Given the description of an element on the screen output the (x, y) to click on. 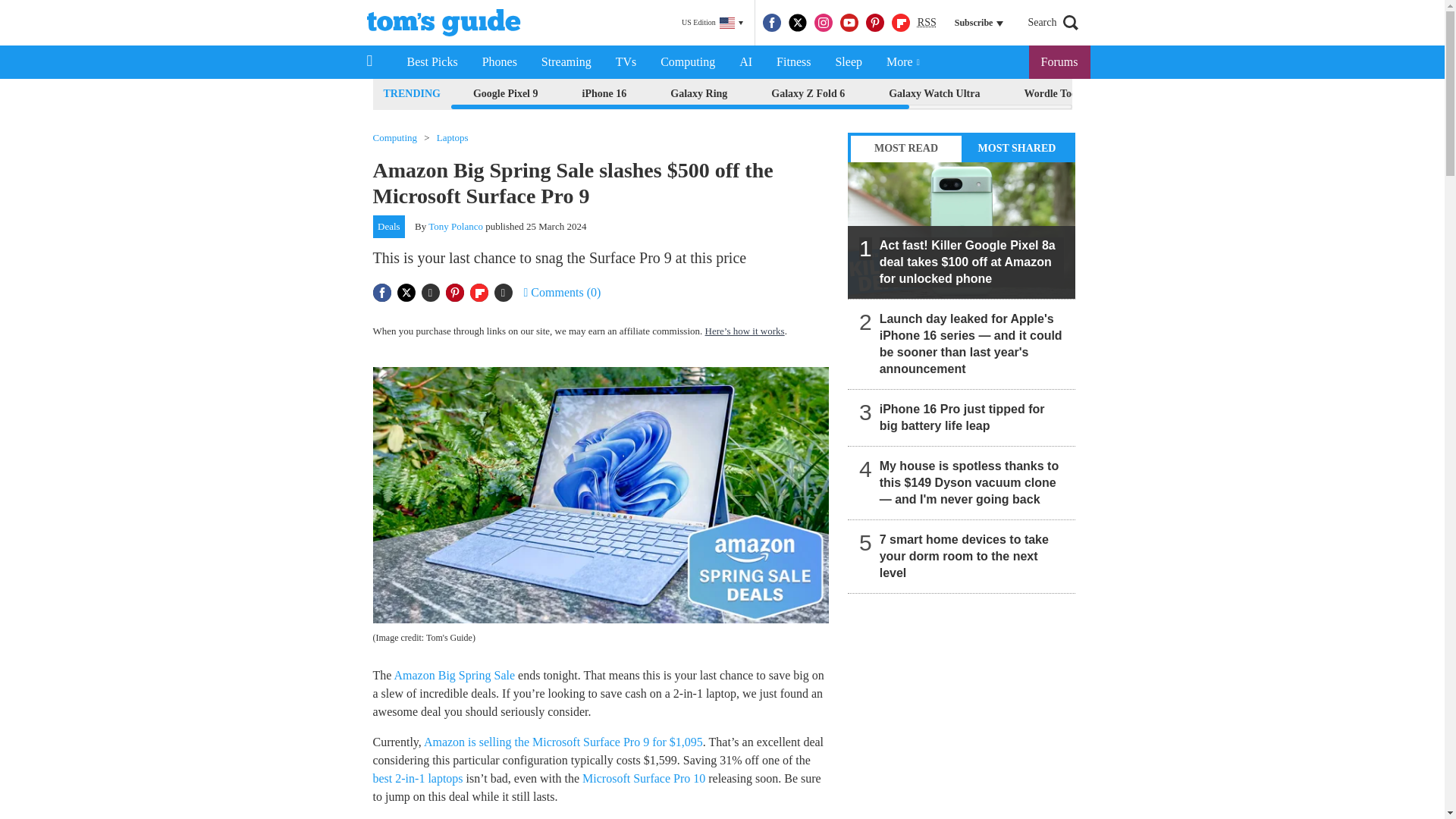
RSS (926, 22)
Sleep (848, 61)
TVs (626, 61)
AI (745, 61)
Streaming (566, 61)
US Edition (712, 22)
Fitness (793, 61)
Really Simple Syndication (926, 21)
Computing (686, 61)
Best Picks (431, 61)
